Given the description of an element on the screen output the (x, y) to click on. 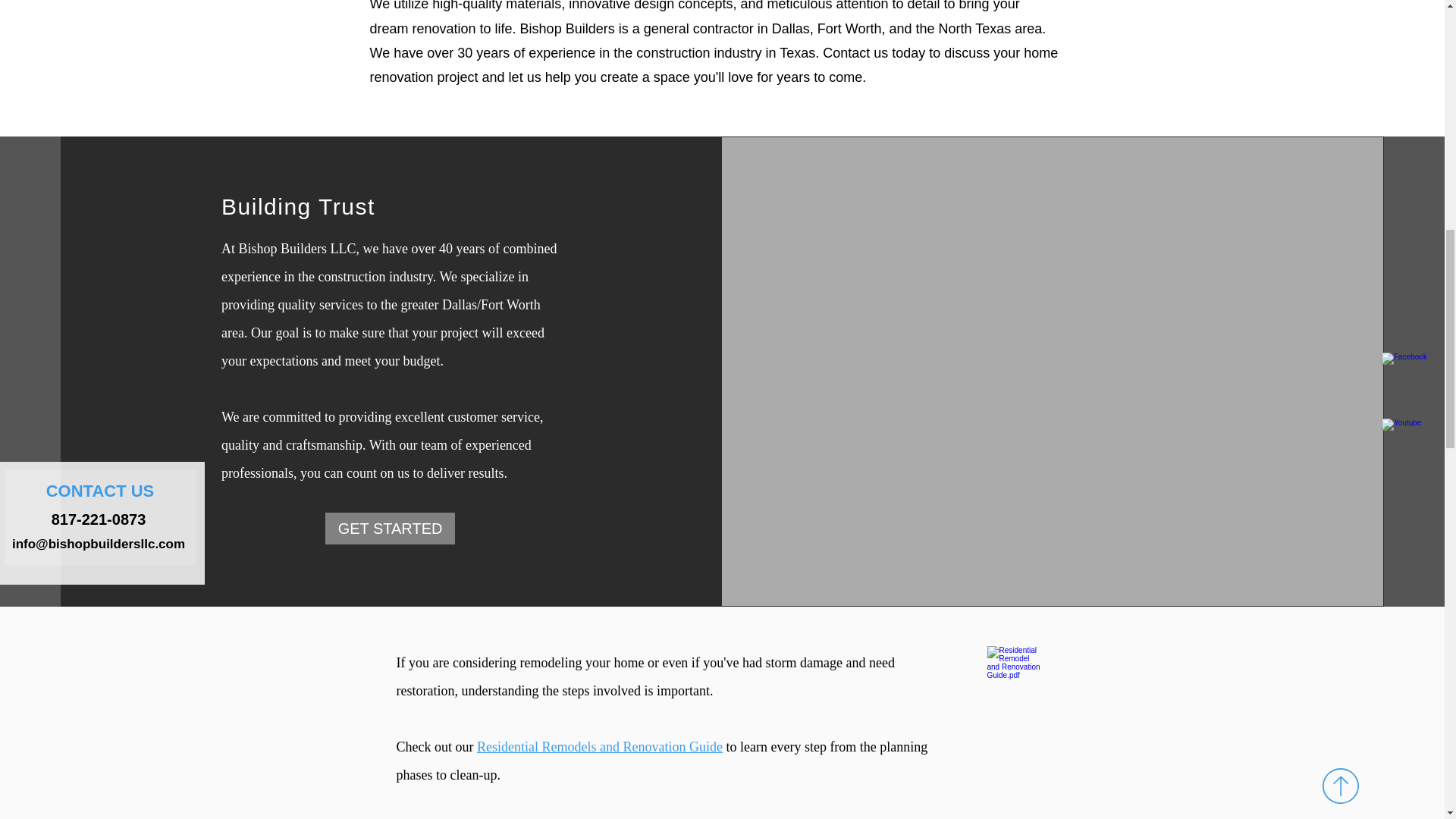
GET STARTED (389, 528)
Residential Remodels and Renovation Guide (599, 746)
